Given the description of an element on the screen output the (x, y) to click on. 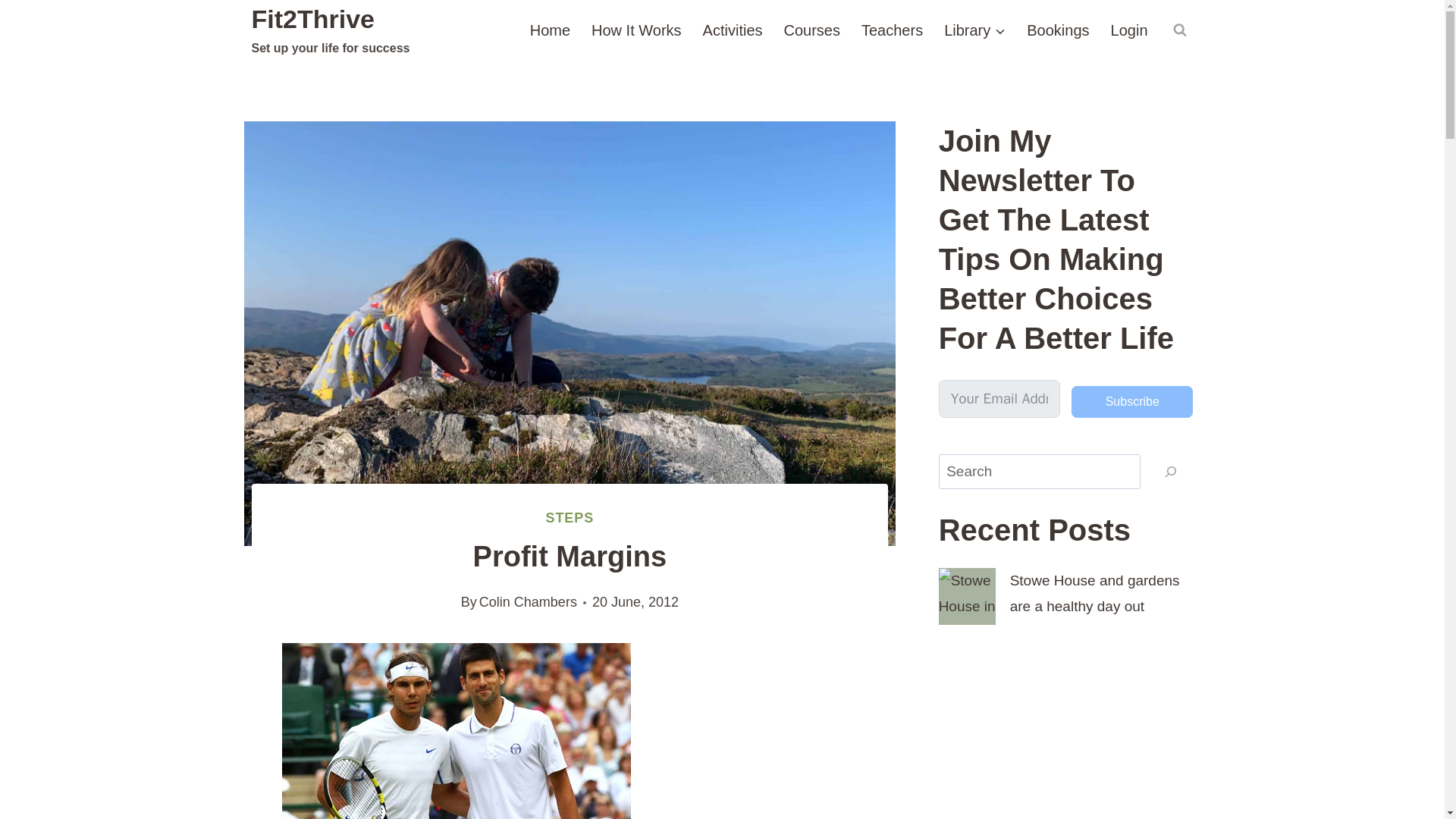
How It Works (636, 29)
Teachers (891, 29)
Courses (811, 29)
Home (549, 29)
Bookings (1057, 29)
Library (974, 29)
Activities (733, 29)
STEPS (570, 517)
Login (1129, 29)
Colin Chambers (527, 601)
